Given the description of an element on the screen output the (x, y) to click on. 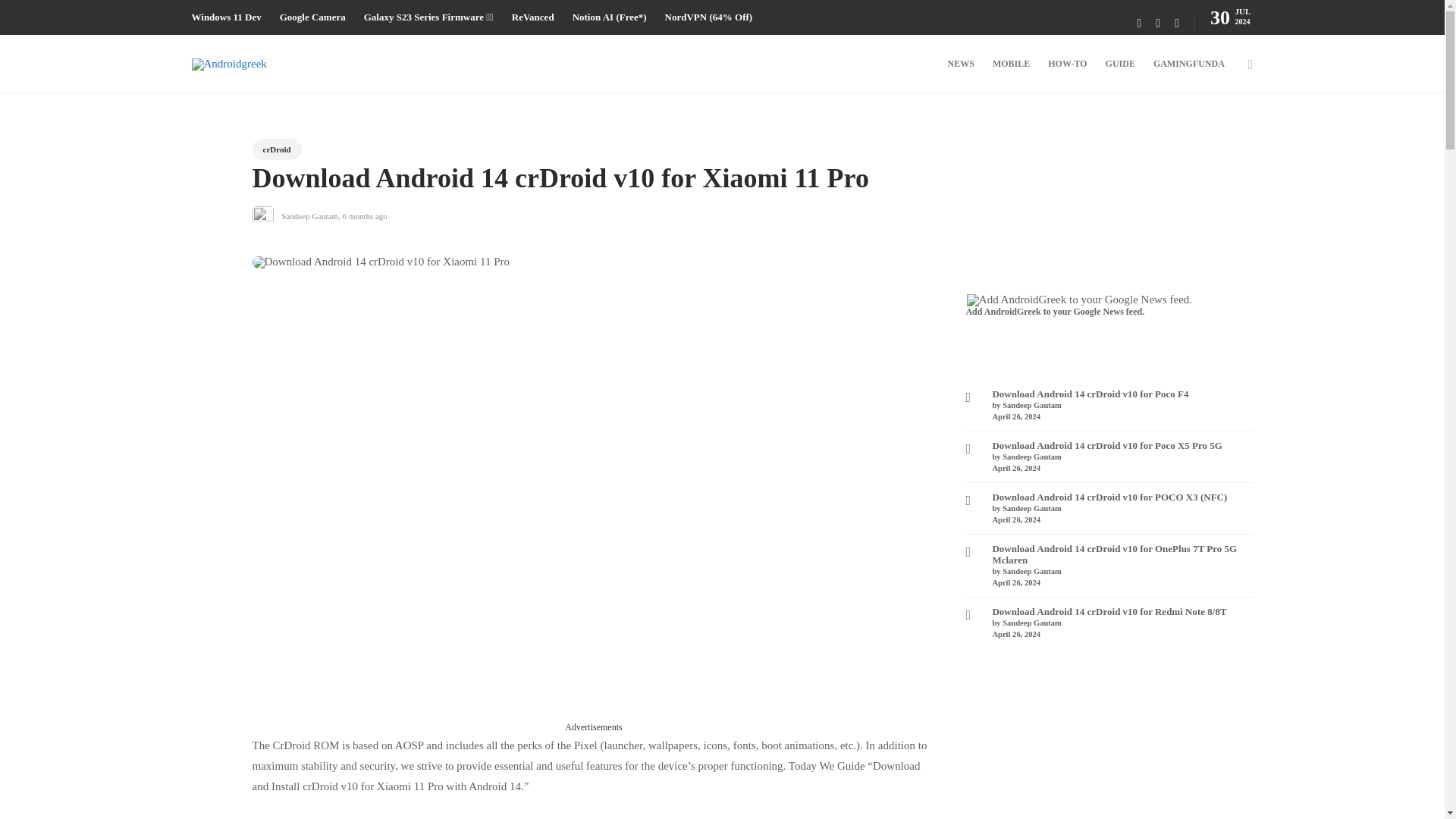
ReVanced (533, 17)
Windows 11 Dev (225, 17)
6 months ago (364, 215)
Add AndroidGreek to your Google News feed. (1079, 300)
Sandeep Gautam (309, 215)
crDroid (276, 148)
GAMINGFUNDA (1188, 63)
Google Camera (312, 17)
Download Android 14 crDroid v10 for Xiaomi 11 Pro (581, 181)
